Given the description of an element on the screen output the (x, y) to click on. 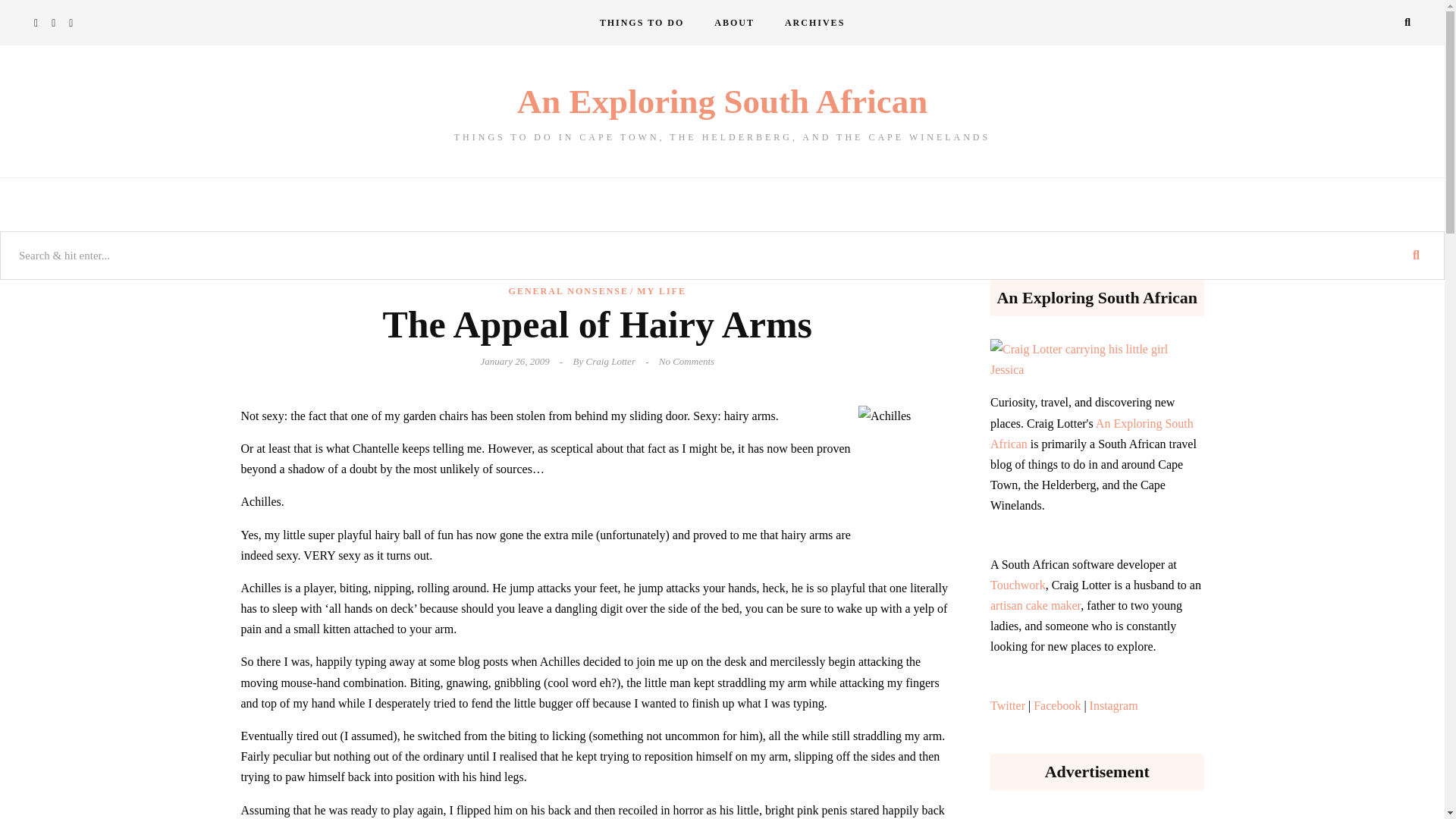
THINGS TO DO (642, 22)
Craig Lotter carrying his little girl Jessica (1097, 359)
An Exploring South Africa and Craig Lotter (734, 22)
